Given the description of an element on the screen output the (x, y) to click on. 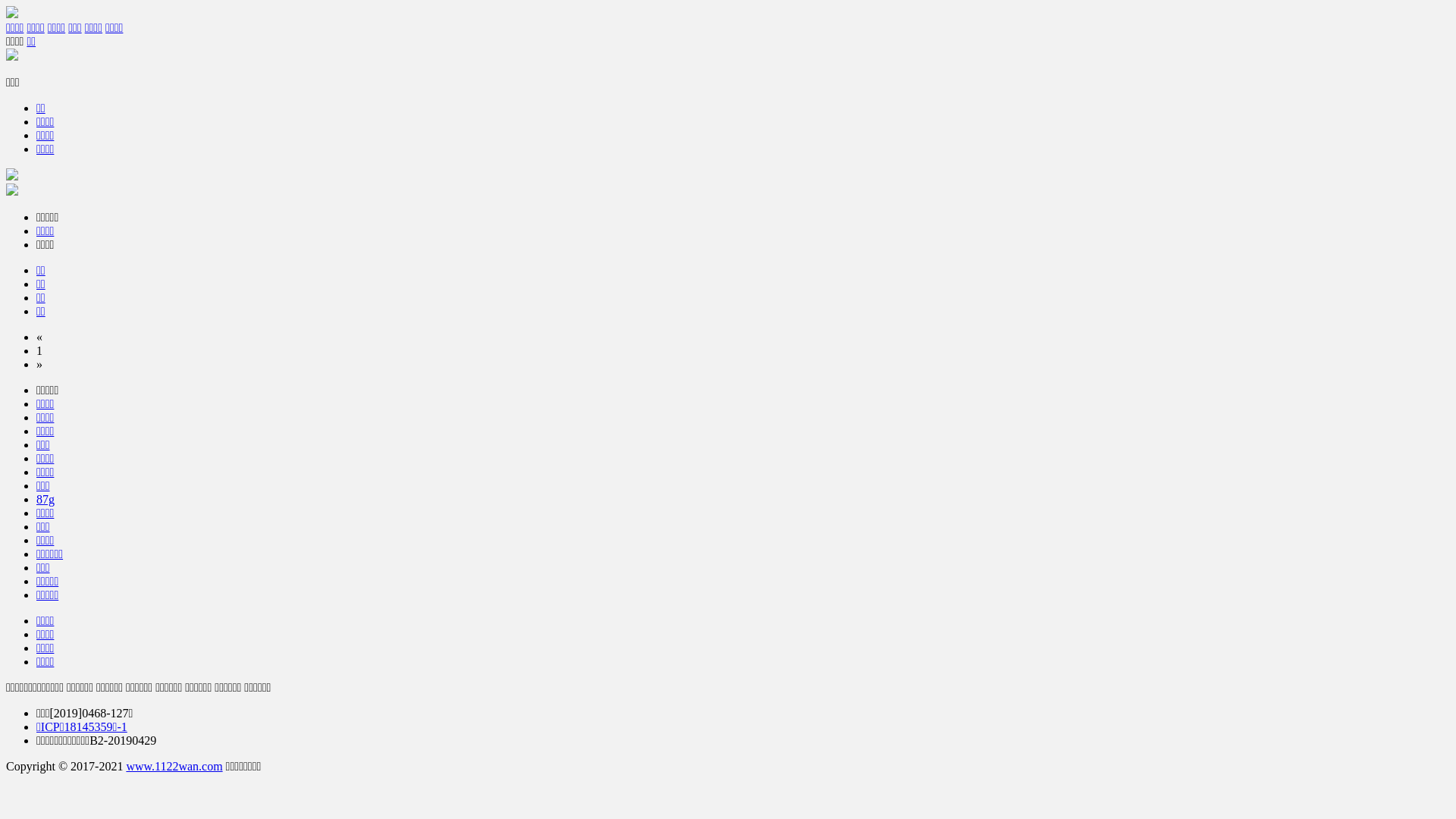
87g Element type: text (45, 498)
www.1122wan.com Element type: text (173, 765)
